Given the description of an element on the screen output the (x, y) to click on. 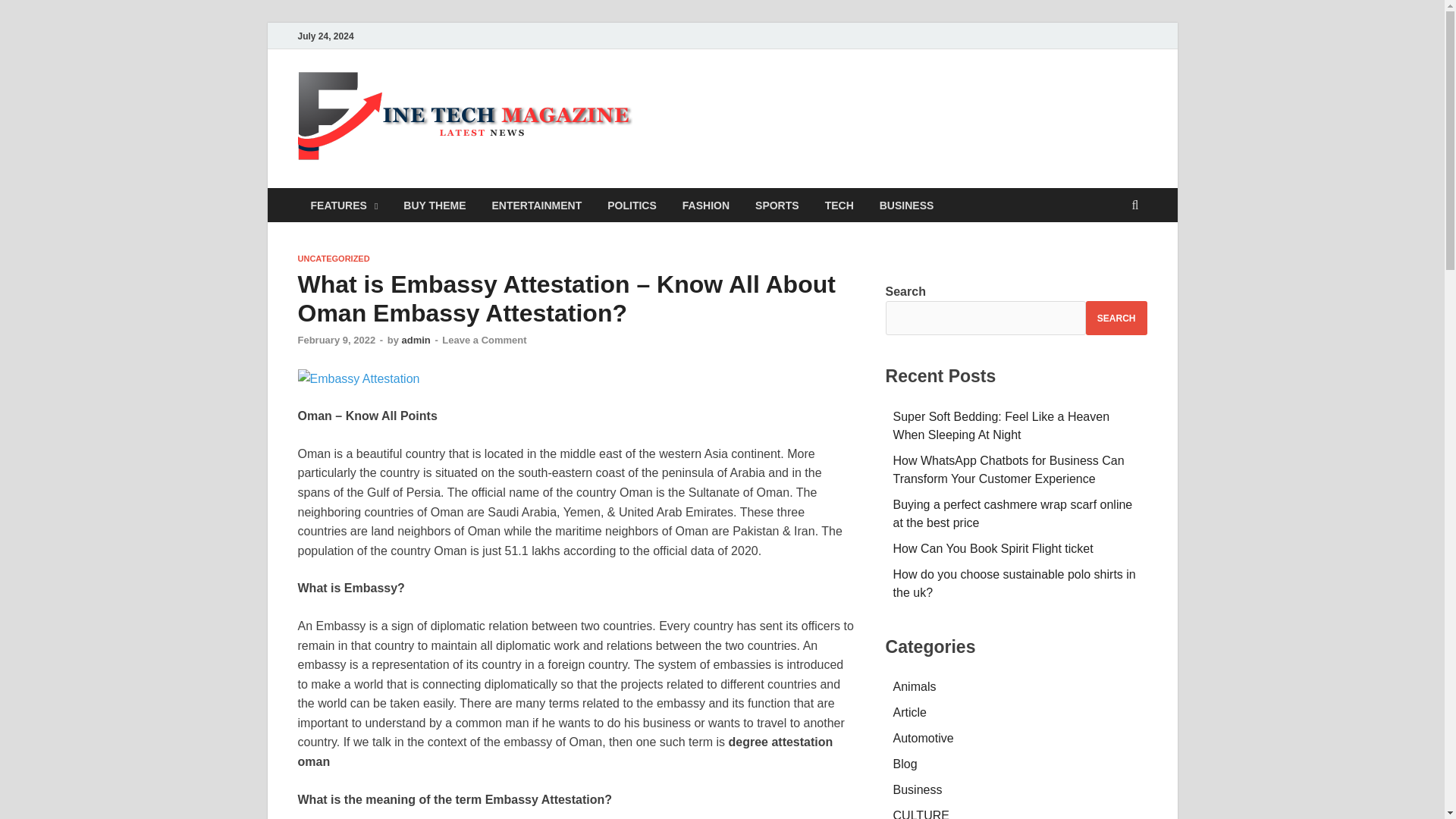
TECH (839, 204)
UNCATEGORIZED (333, 257)
FASHION (705, 204)
BUSINESS (906, 204)
POLITICS (631, 204)
FEATURES (343, 204)
ENTERTAINMENT (537, 204)
SPORTS (777, 204)
BUY THEME (434, 204)
